Given the description of an element on the screen output the (x, y) to click on. 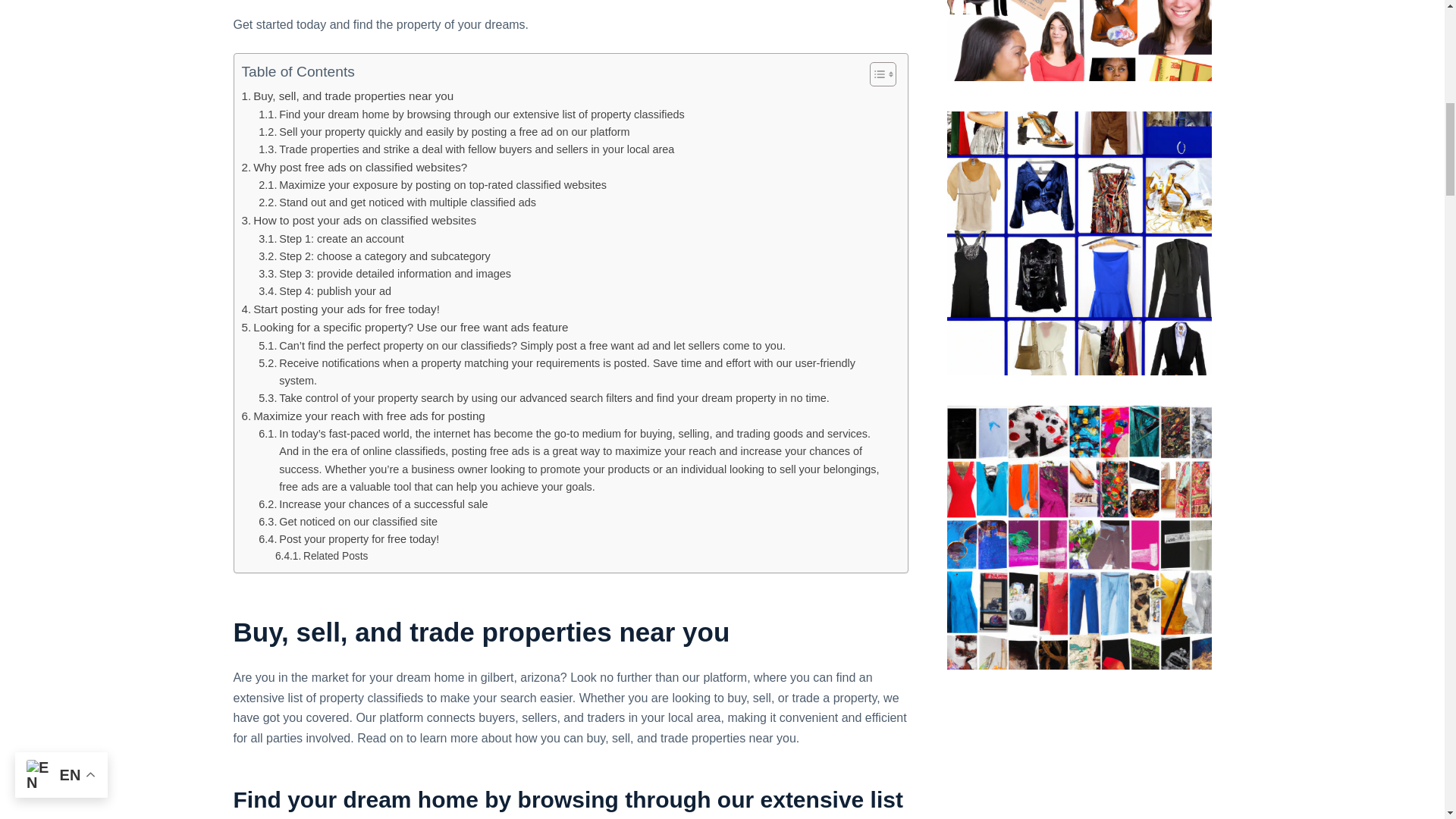
Step 1: create an account (331, 239)
Stand out and get noticed with multiple classified ads (397, 202)
Why post free ads on classified websites? (354, 167)
Step 3: provide detailed information and images (385, 273)
Buy, sell, and trade properties near you (346, 95)
How to post your ads on classified websites (358, 220)
Step 2: choose a category and subcategory (374, 256)
